Given the description of an element on the screen output the (x, y) to click on. 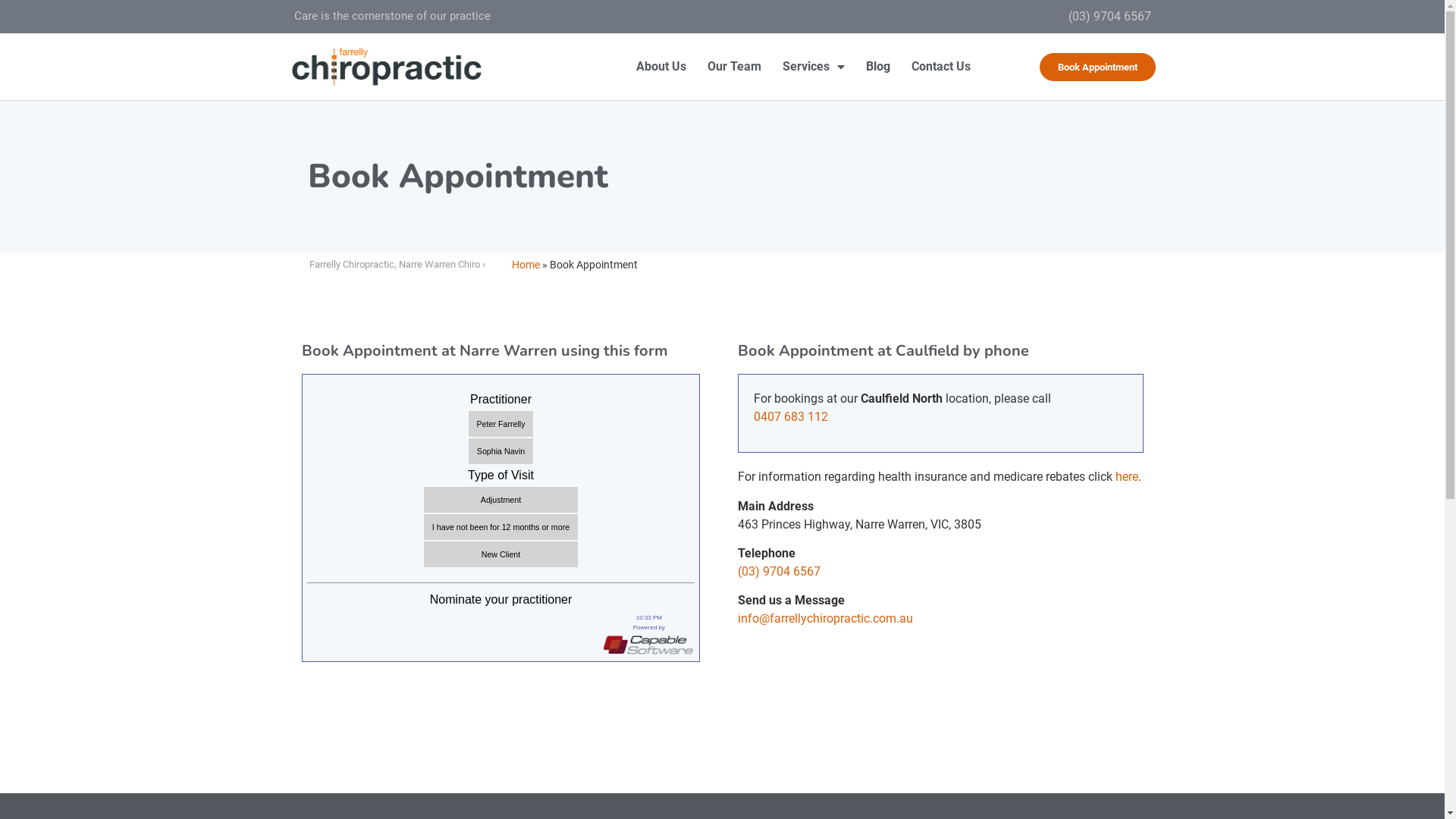
info@farrellychiropractic.com.au Element type: text (824, 618)
(03) 9704 6567 Element type: text (778, 571)
Blog Element type: text (877, 66)
Our Team Element type: text (733, 66)
About Us Element type: text (660, 66)
Contact Us Element type: text (940, 66)
Services Element type: text (813, 66)
(03) 9704 6567 Element type: text (1108, 16)
here Element type: text (1125, 476)
Book Appointment Element type: text (1097, 67)
Farrelly Chiropractic, Narre Warren Chiro Element type: text (394, 263)
Home Element type: text (525, 264)
0407 683 112 Element type: text (790, 416)
